Given the description of an element on the screen output the (x, y) to click on. 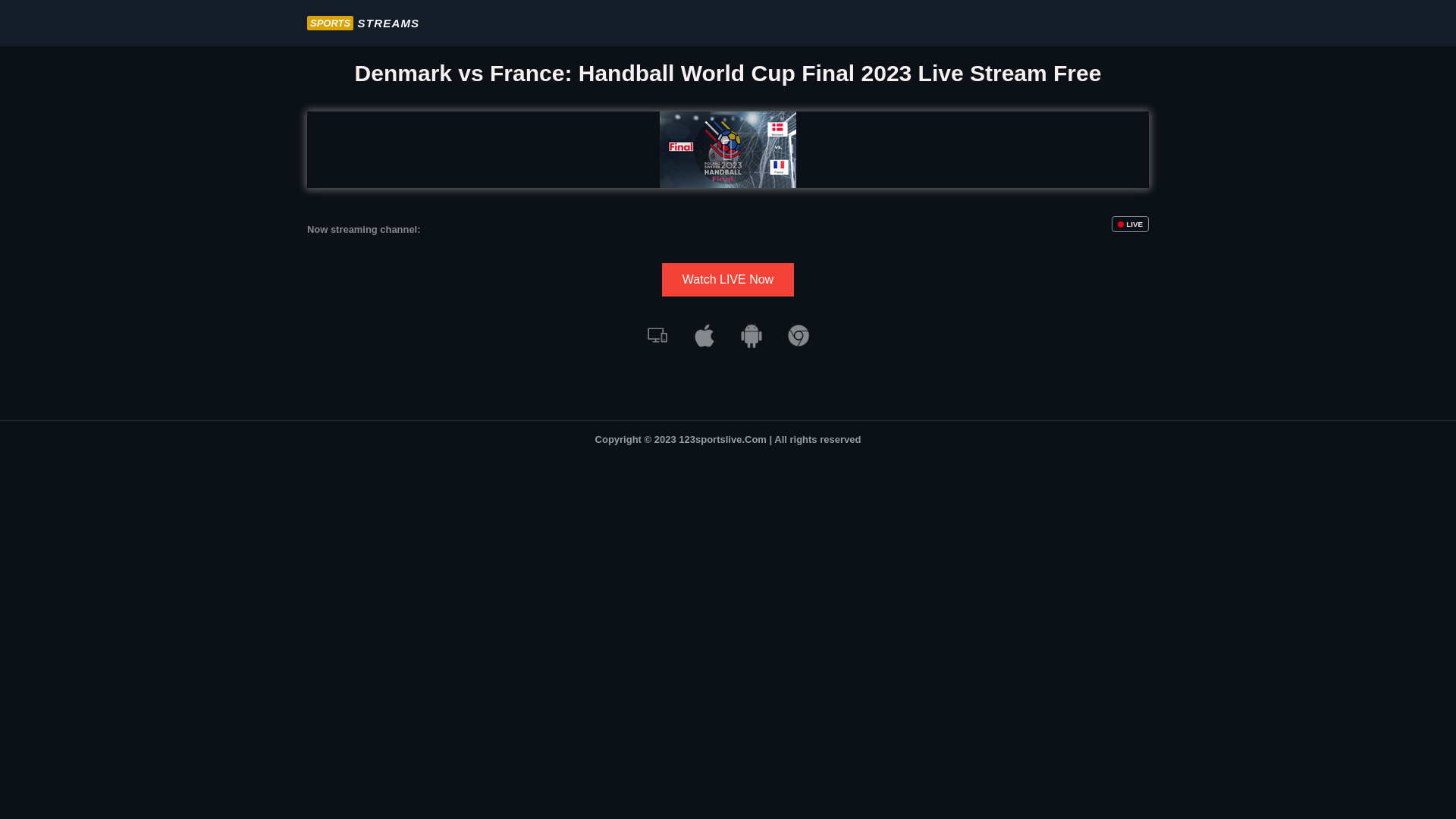
Watch LIVE Now Element type: text (727, 279)
SPORTS STREAMS Element type: text (363, 22)
Watch LIVE Now Element type: text (727, 279)
